Given the description of an element on the screen output the (x, y) to click on. 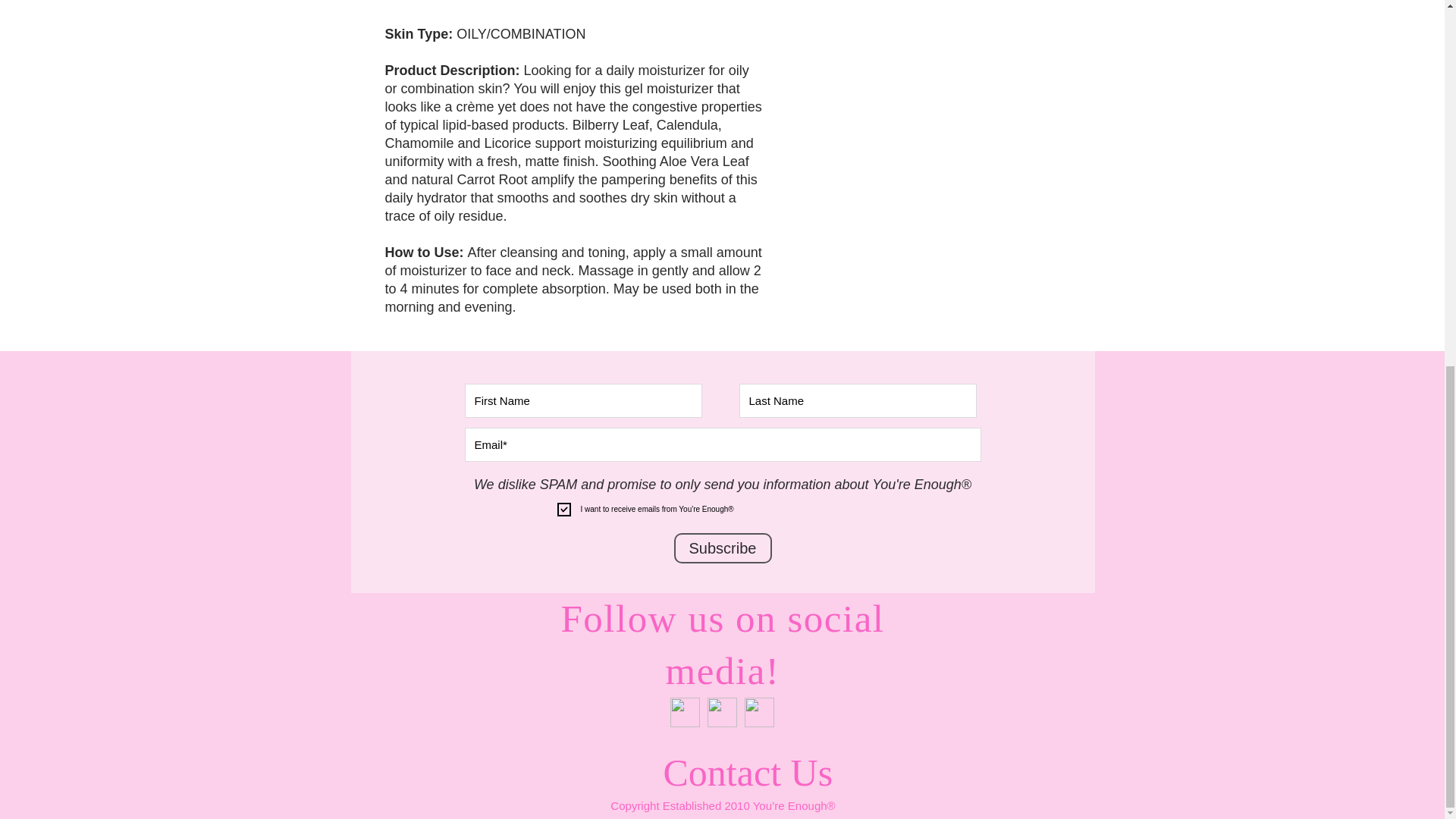
Subscribe (721, 548)
